Given the description of an element on the screen output the (x, y) to click on. 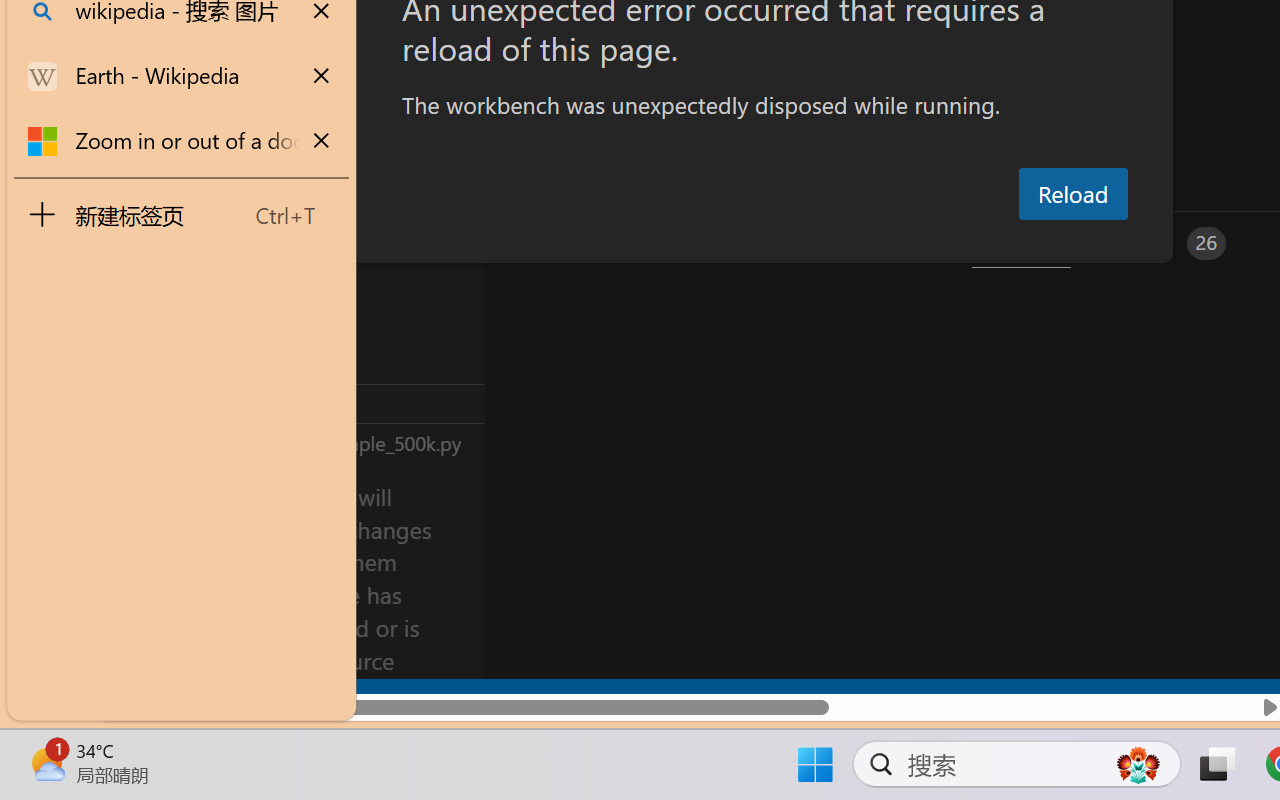
Ports - 26 forwarded ports (1165, 243)
No Problems (212, 698)
Terminal (Ctrl+`) (1021, 243)
Reload (1071, 193)
Problems (Ctrl+Shift+M) (567, 243)
